Given the description of an element on the screen output the (x, y) to click on. 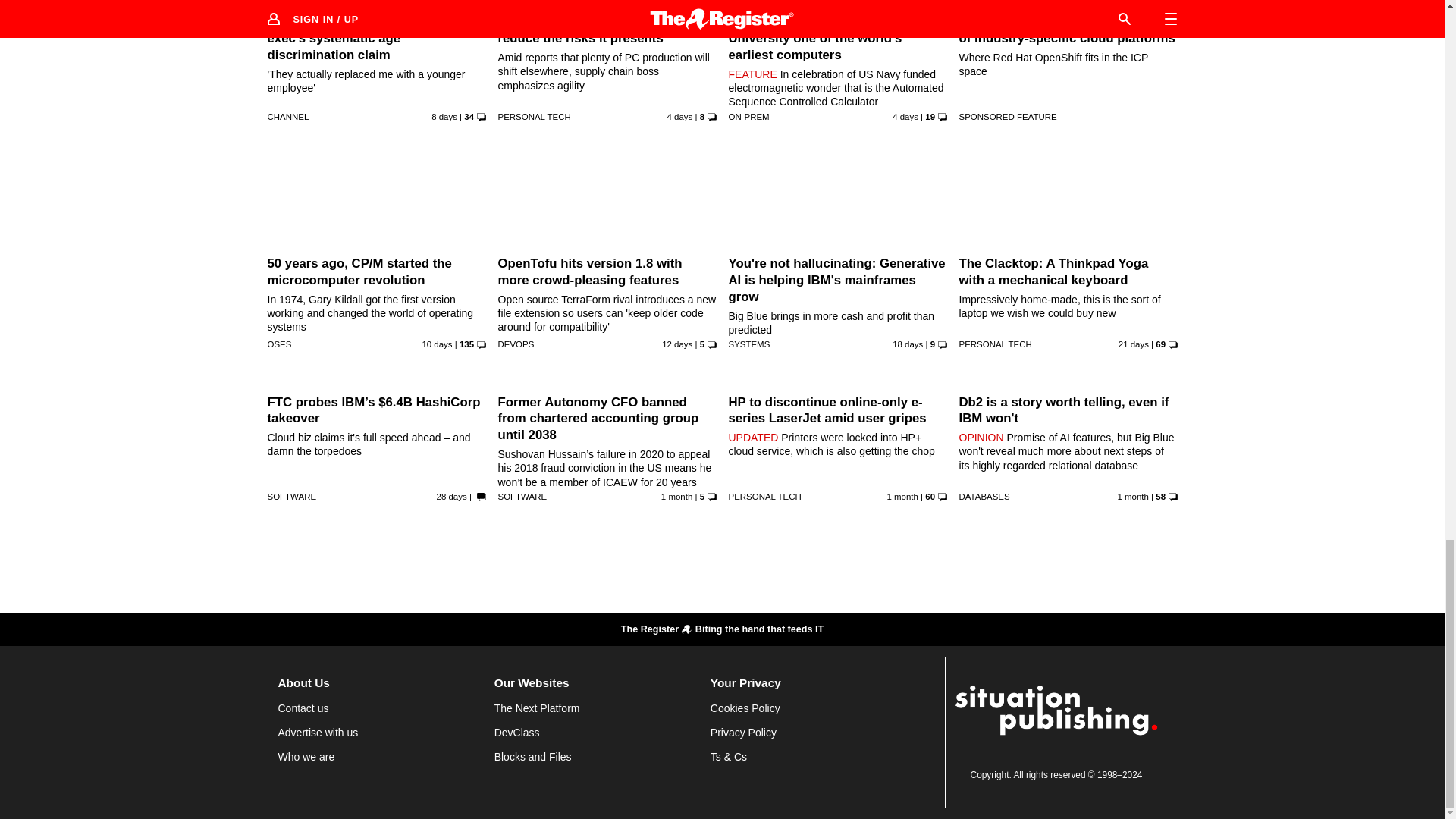
9 Aug 2024 3:45 (679, 116)
2 Aug 2024 9:34 (436, 343)
25 Jul 2024 6:33 (907, 343)
15 Jul 2024 19:20 (451, 496)
4 Aug 2024 17:20 (443, 116)
9 Jul 2024 14:30 (901, 496)
8 Aug 2024 15:57 (905, 116)
22 Jul 2024 11:15 (1133, 343)
31 Jul 2024 10:28 (677, 343)
11 Jul 2024 16:5 (677, 496)
